Given the description of an element on the screen output the (x, y) to click on. 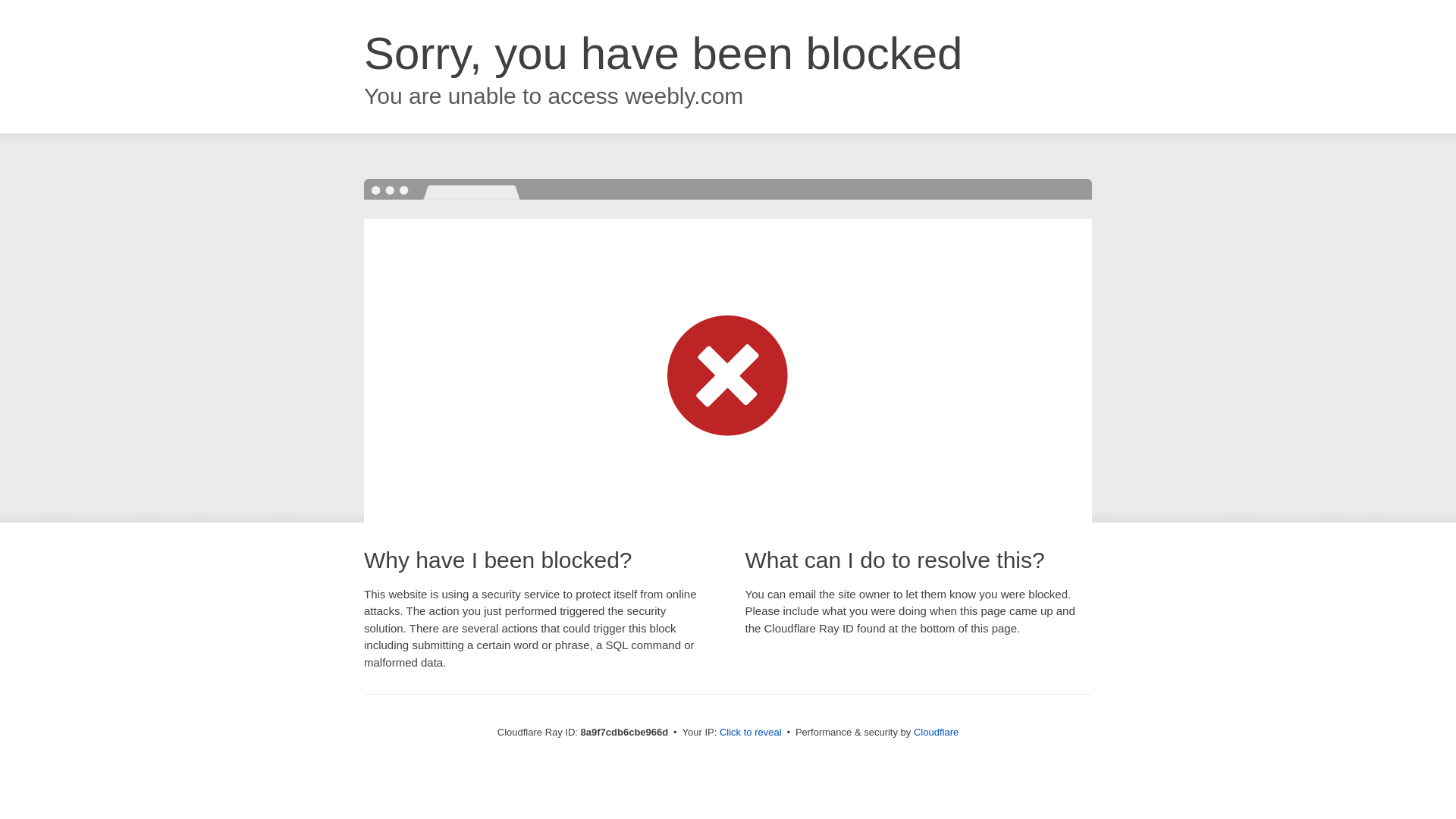
Cloudflare (936, 731)
Click to reveal (750, 732)
